Given the description of an element on the screen output the (x, y) to click on. 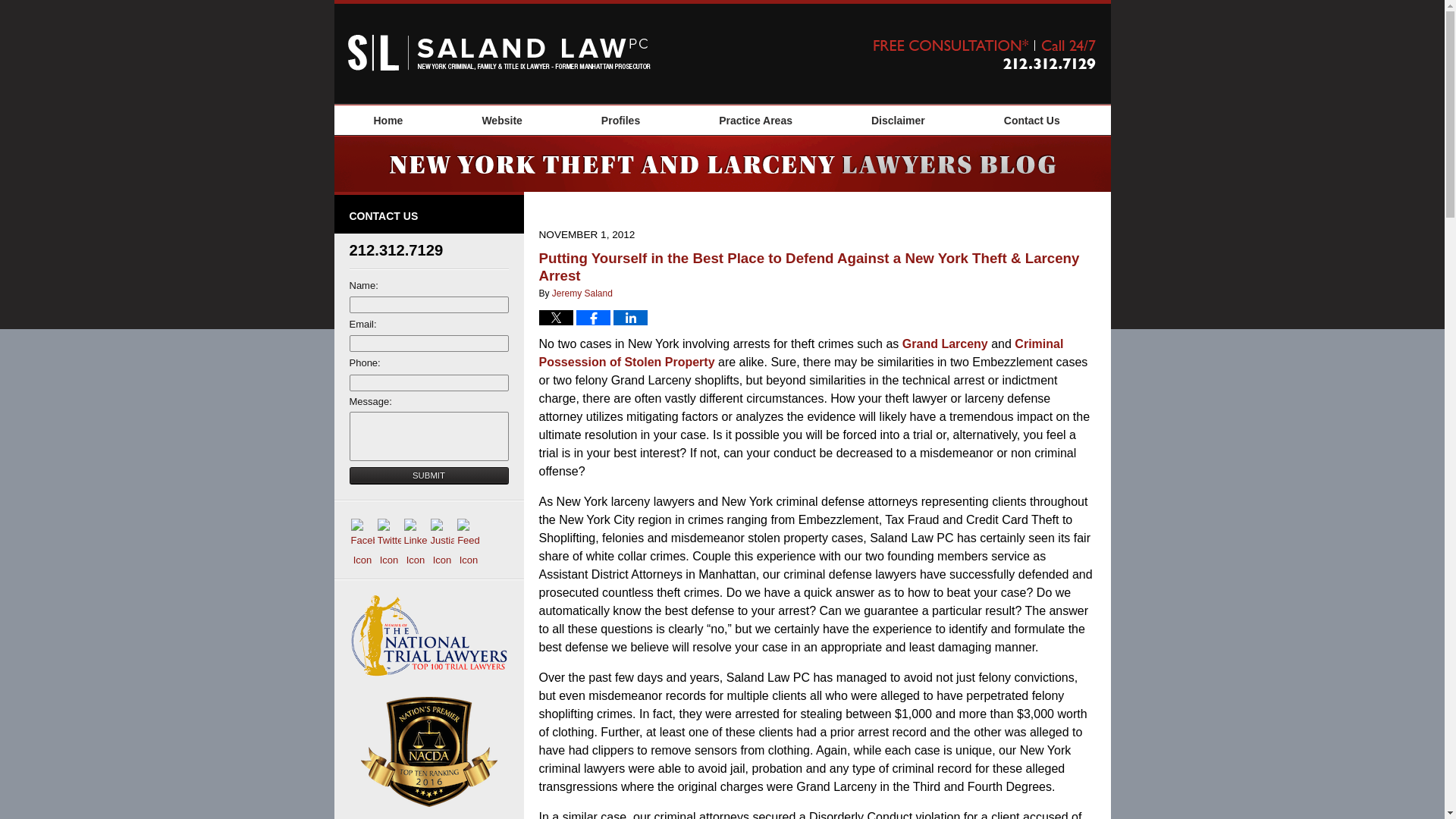
Home (387, 120)
Please enter a valid phone number. (428, 382)
Practice Areas (755, 120)
Website (501, 120)
SUBMIT (428, 475)
Grand Larceny (945, 343)
New York Theft and Larceny Lawyers Blog (498, 52)
Criminal Possession of Stolen Property (800, 352)
Profiles (620, 120)
Published By Saland Law PC (984, 53)
